Given the description of an element on the screen output the (x, y) to click on. 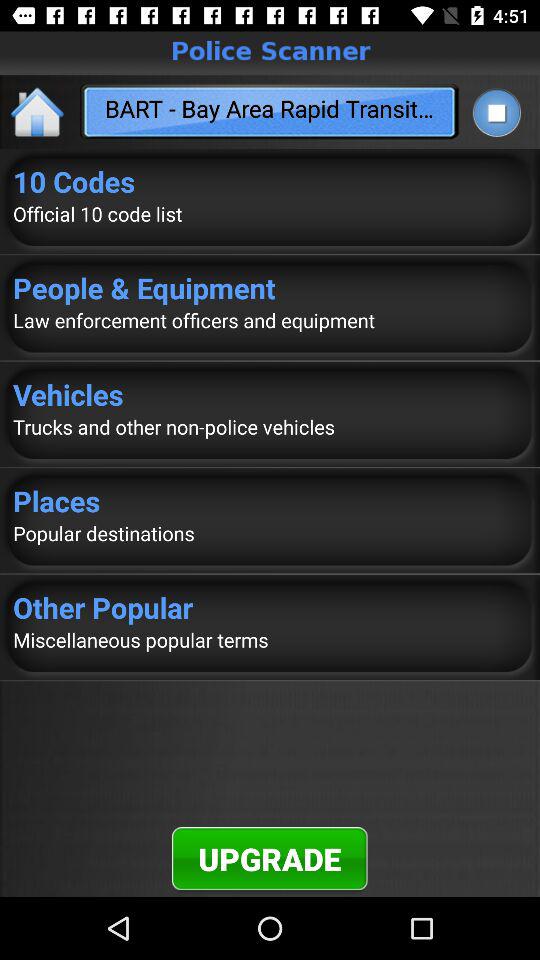
home button (38, 111)
